Given the description of an element on the screen output the (x, y) to click on. 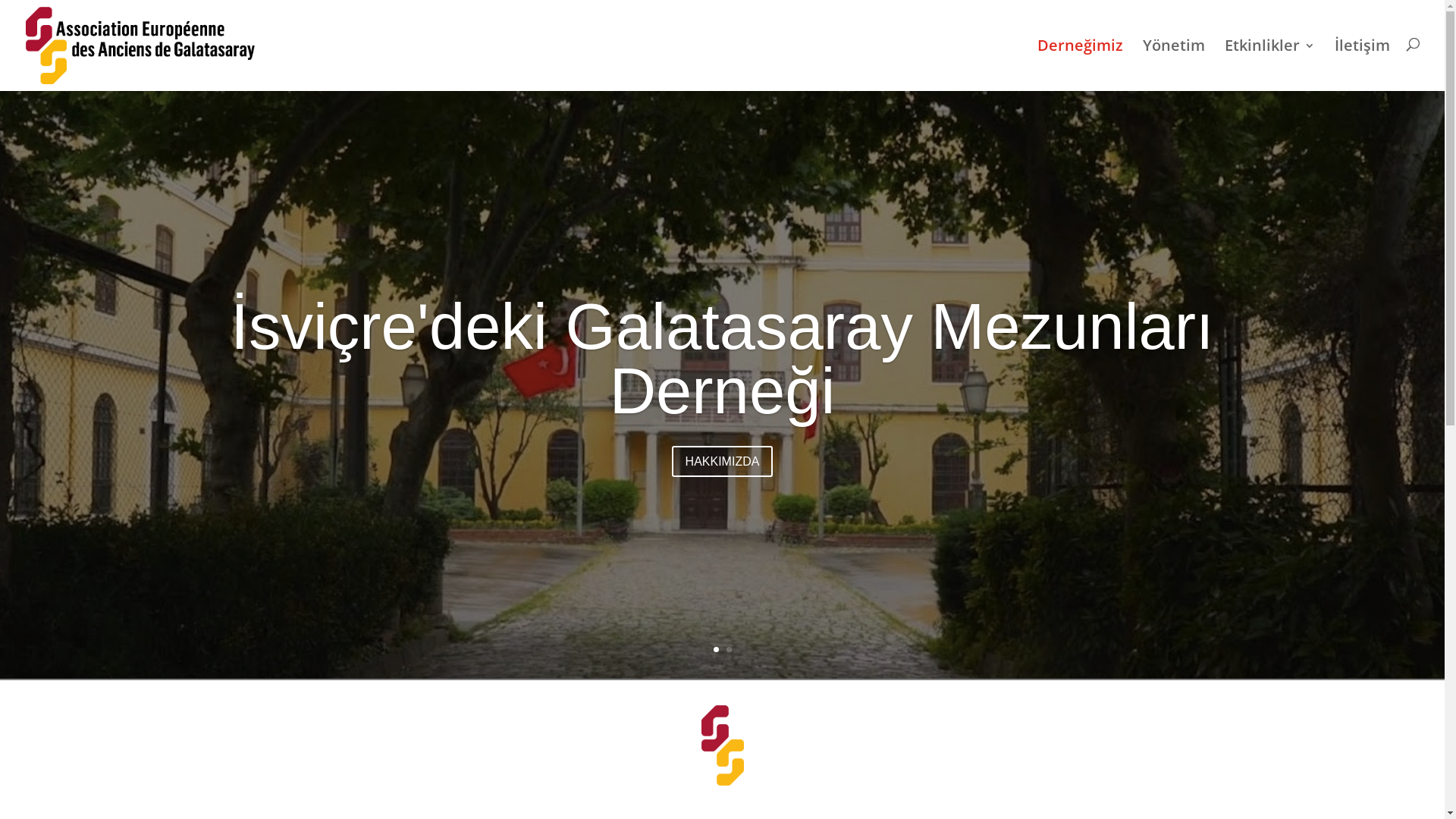
HAKKIMIZDA Element type: text (722, 460)
Etkinlikler Element type: text (1269, 64)
1 Element type: text (715, 649)
2 Element type: text (728, 649)
